Given the description of an element on the screen output the (x, y) to click on. 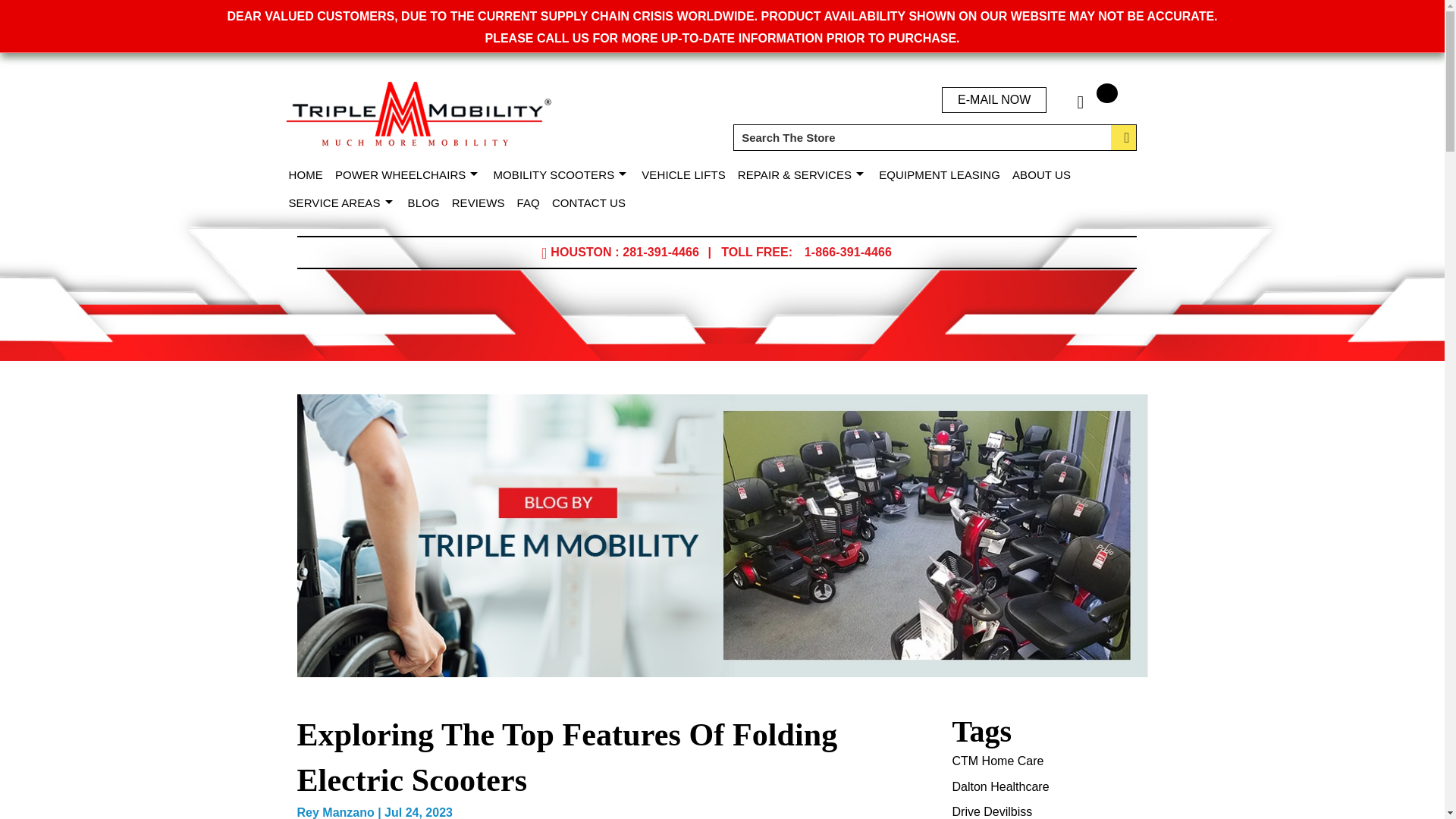
POWER WHEELCHAIRS (410, 174)
SERVICE AREAS (344, 203)
ABOUT US (1044, 174)
MOBILITY SCOOTERS (564, 174)
E-MAIL NOW (994, 99)
VEHICLE LIFTS (687, 174)
HOME (308, 174)
EQUIPMENT LEASING (942, 174)
Search The Store (934, 137)
Search The Store (934, 137)
